Given the description of an element on the screen output the (x, y) to click on. 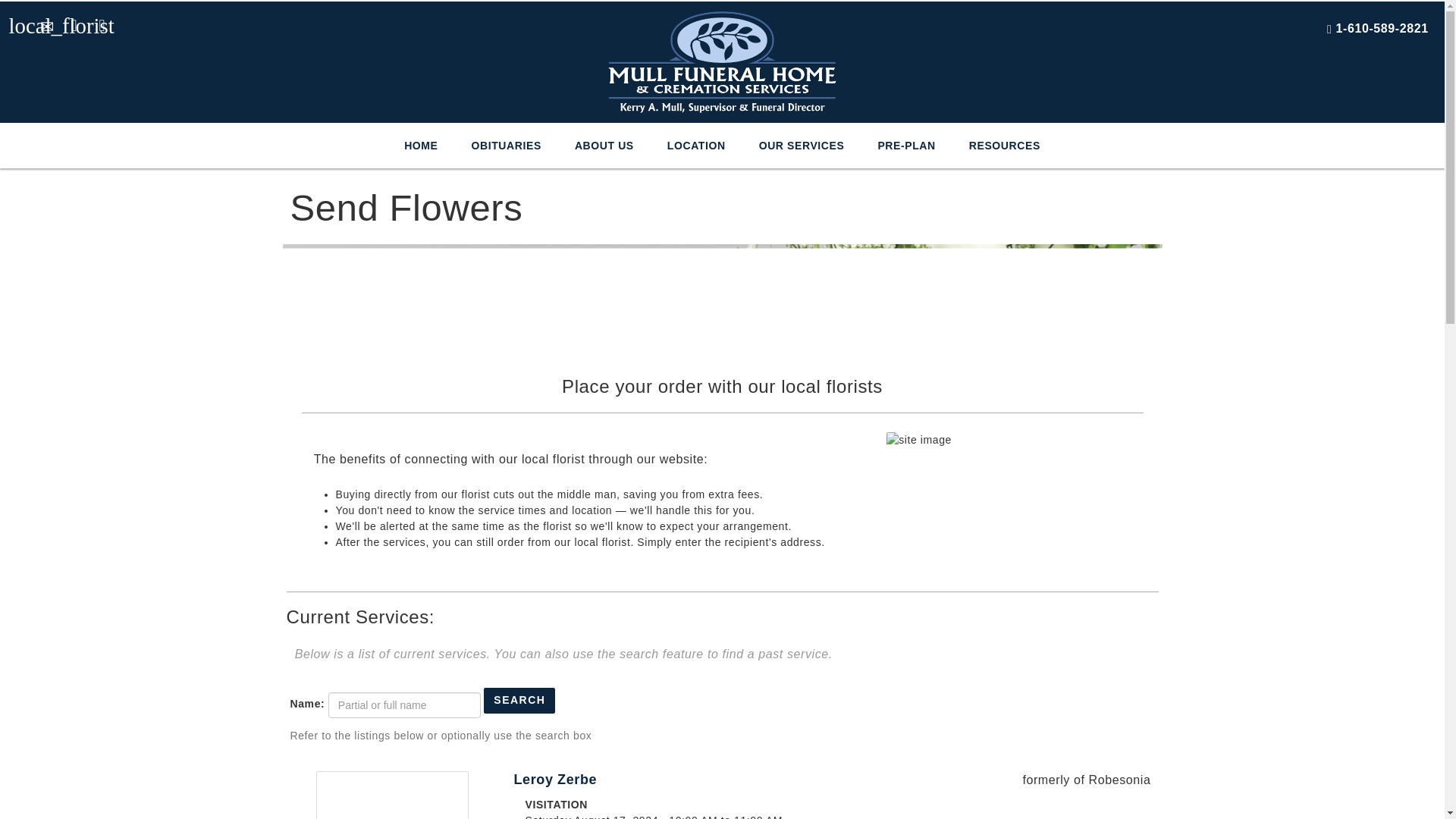
1-610-589-2821 (1381, 28)
OUR SERVICES (801, 145)
Contact Us (44, 21)
HOME (420, 145)
Directions (72, 21)
LOCATION (696, 145)
PRE-PLAN (906, 145)
ABOUT US (603, 145)
Send Flowers (17, 21)
RESOURCES (1004, 145)
